Given the description of an element on the screen output the (x, y) to click on. 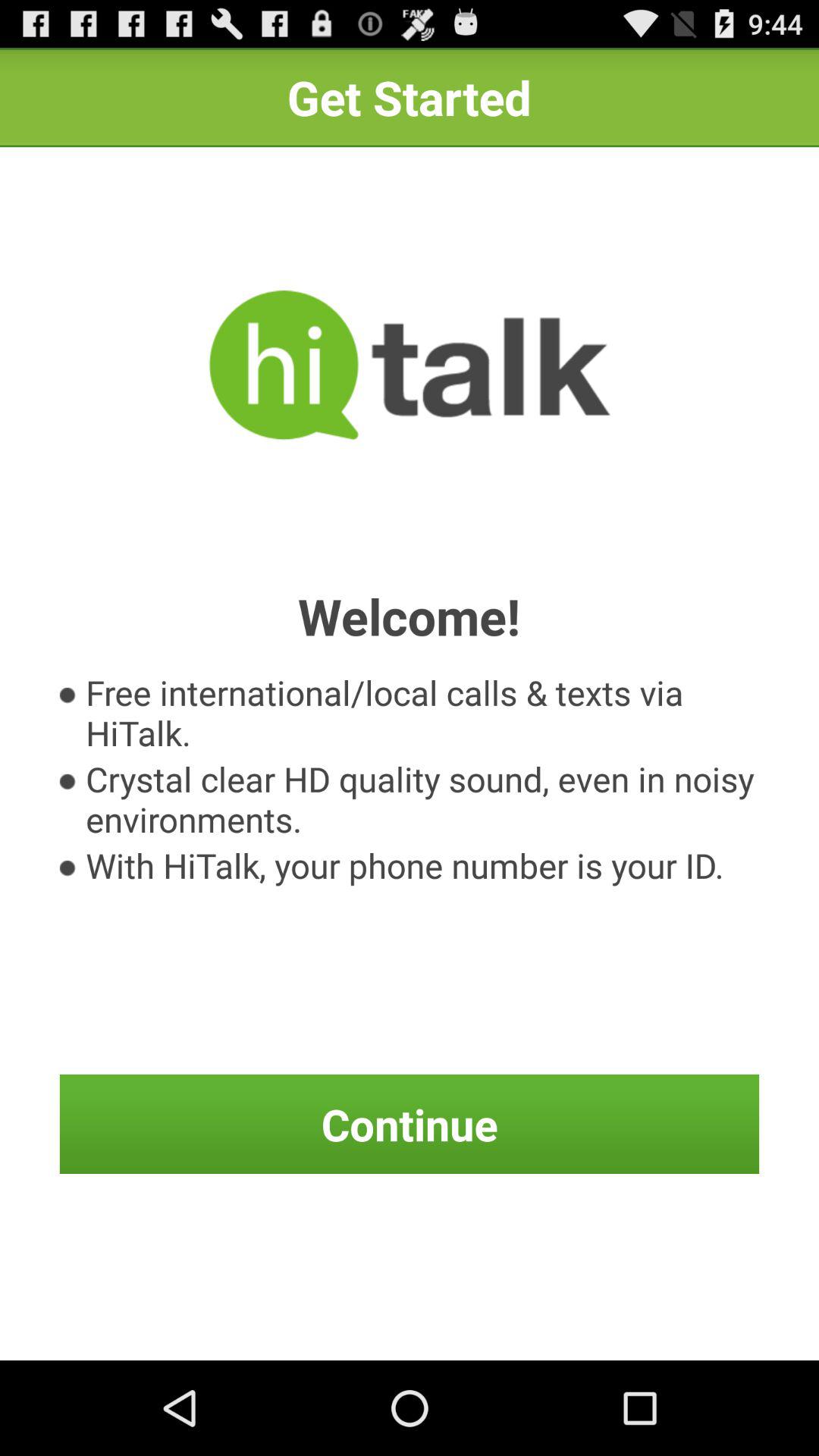
jump to the continue icon (409, 1123)
